Given the description of an element on the screen output the (x, y) to click on. 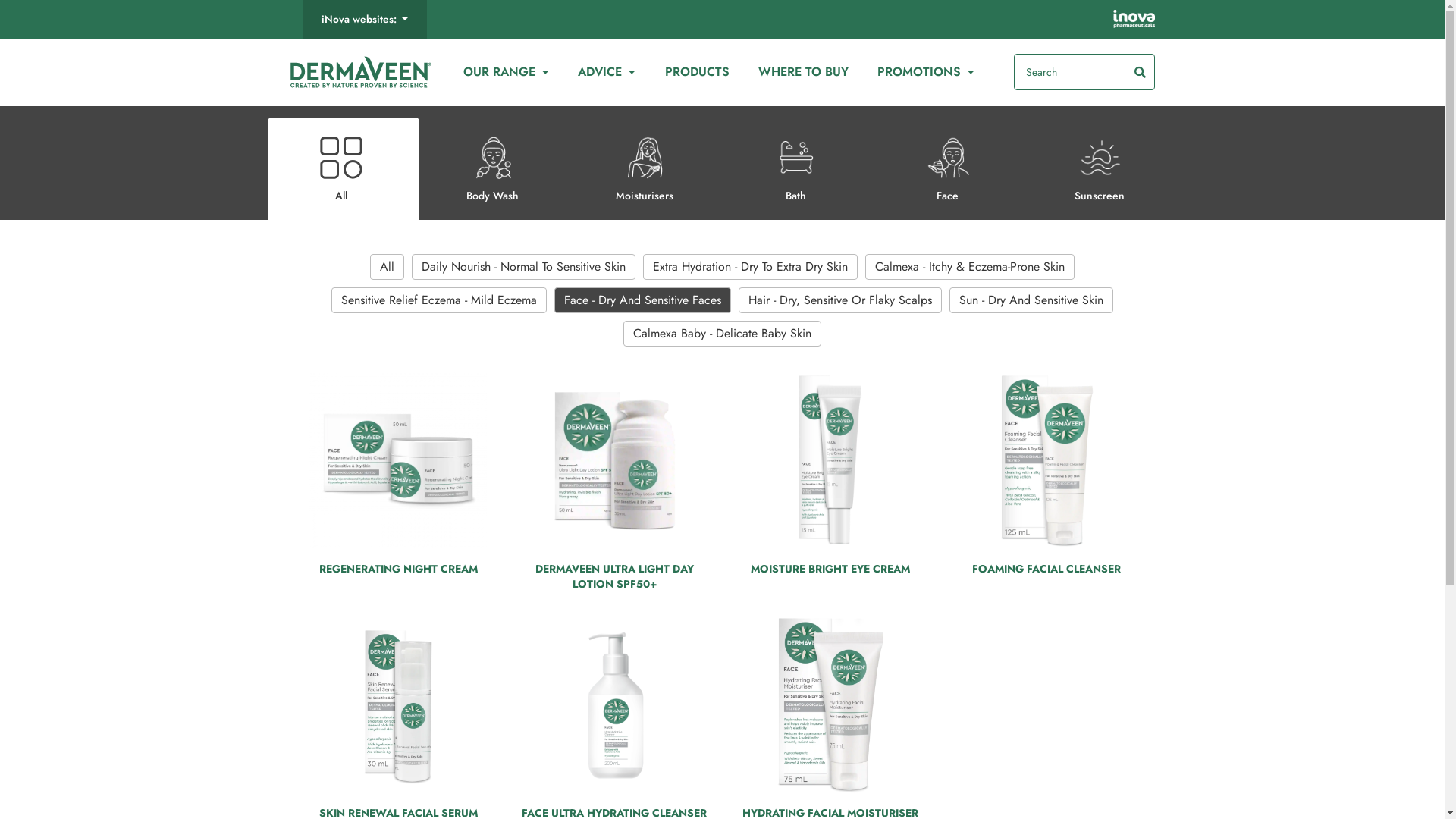
PROMOTIONS Element type: text (925, 71)
Daily Nourish - Normal To Sensitive Skin Element type: text (523, 266)
All Element type: text (340, 162)
Hair - Dry, Sensitive Or Flaky Scalps Element type: text (839, 300)
WHERE TO BUY Element type: text (803, 71)
Hydrating Facial Moisturiser Element type: hover (830, 704)
Regenerating Night Cream Element type: hover (397, 460)
Search Element type: hover (1083, 71)
Sun - Dry And Sensitive Skin Element type: text (1031, 300)
FACE ULTRA HYDRATING CLEANSER Element type: hover (613, 704)
OUR RANGE Element type: text (505, 71)
Body Wash Element type: text (491, 162)
ADVICE Element type: text (606, 71)
Calmexa - Itchy & Eczema-Prone Skin Element type: text (969, 266)
All Element type: text (387, 266)
DERMAVEEN ULTRA LIGHT DAY LOTION SPF50+ Element type: text (614, 631)
DermaVeen Ultra Light Day Lotion SPF50+ Element type: hover (613, 460)
Extra Hydration - Dry To Extra Dry Skin Element type: text (750, 266)
Skin Renewal Facial Serum Element type: hover (397, 704)
iNova websites: Element type: text (363, 19)
Face Element type: text (946, 162)
MOISTURE BRIGHT EYE CREAM Element type: text (829, 624)
Moisture Bright Eye Cream Element type: hover (830, 460)
Sunscreen Element type: text (1098, 162)
Calmexa Baby - Delicate Baby Skin Element type: text (722, 333)
FOAMING FACIAL CLEANSER Element type: text (1046, 624)
Moisturisers Element type: text (643, 162)
Foaming Facial Cleanser Element type: hover (1046, 460)
Face - Dry And Sensitive Faces Element type: text (642, 300)
Bath Element type: text (795, 162)
PRODUCTS Element type: text (696, 71)
Sensitive Relief Eczema - Mild Eczema Element type: text (438, 300)
DermaVeen Element type: hover (359, 71)
REGENERATING NIGHT CREAM Element type: text (397, 624)
